Given the description of an element on the screen output the (x, y) to click on. 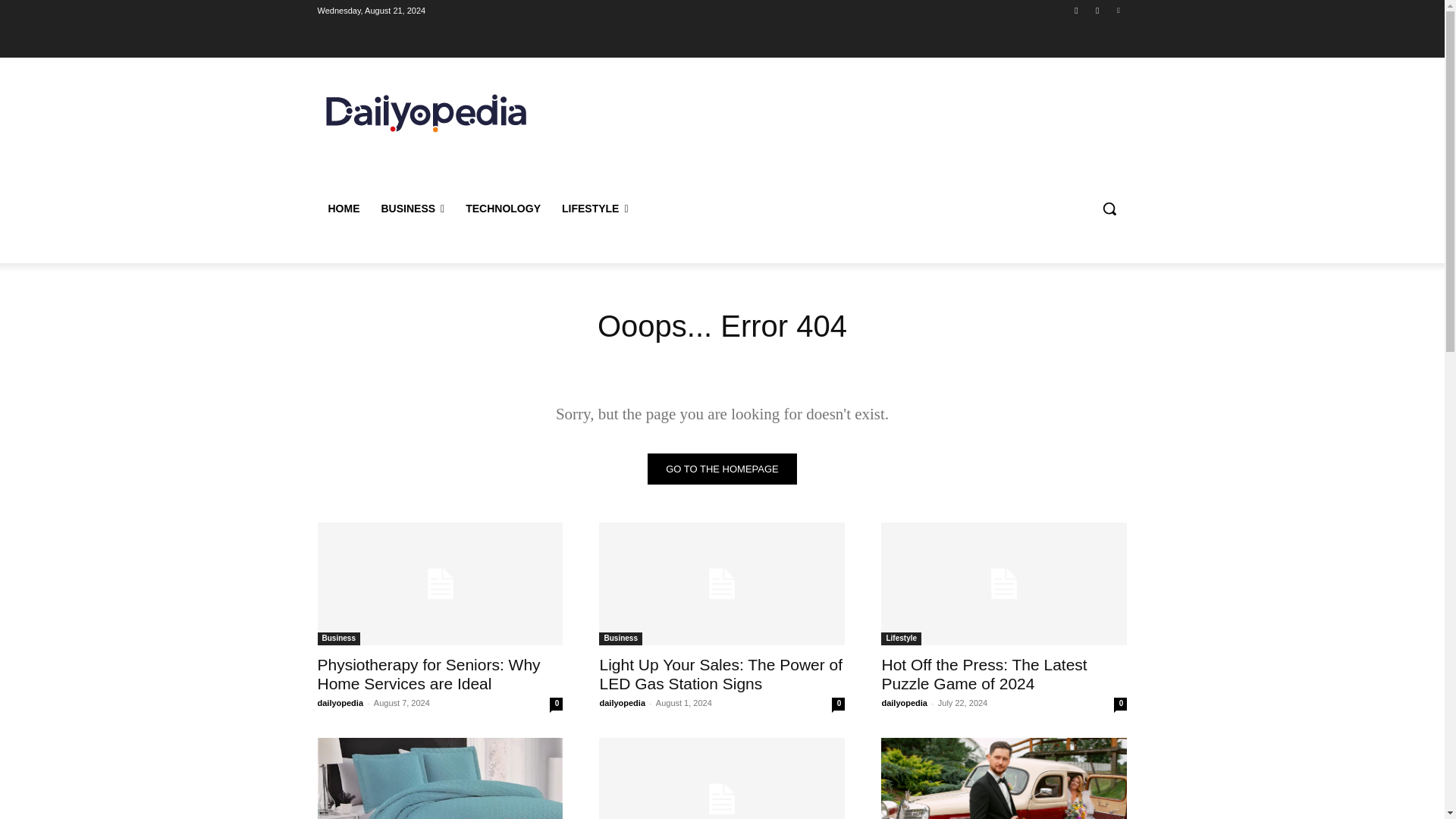
Hot Off the Press: The Latest Puzzle Game of 2024 (1003, 583)
dailyopedia (621, 702)
Facebook (1075, 9)
TECHNOLOGY (502, 208)
Instagram (1097, 9)
Light Up Your Sales: The Power of LED Gas Station Signs (720, 674)
Physiotherapy for Seniors: Why Home Services are Ideal (439, 583)
Go to the homepage (721, 468)
Light Up Your Sales: The Power of LED Gas Station Signs (720, 674)
HOME (343, 208)
